Given the description of an element on the screen output the (x, y) to click on. 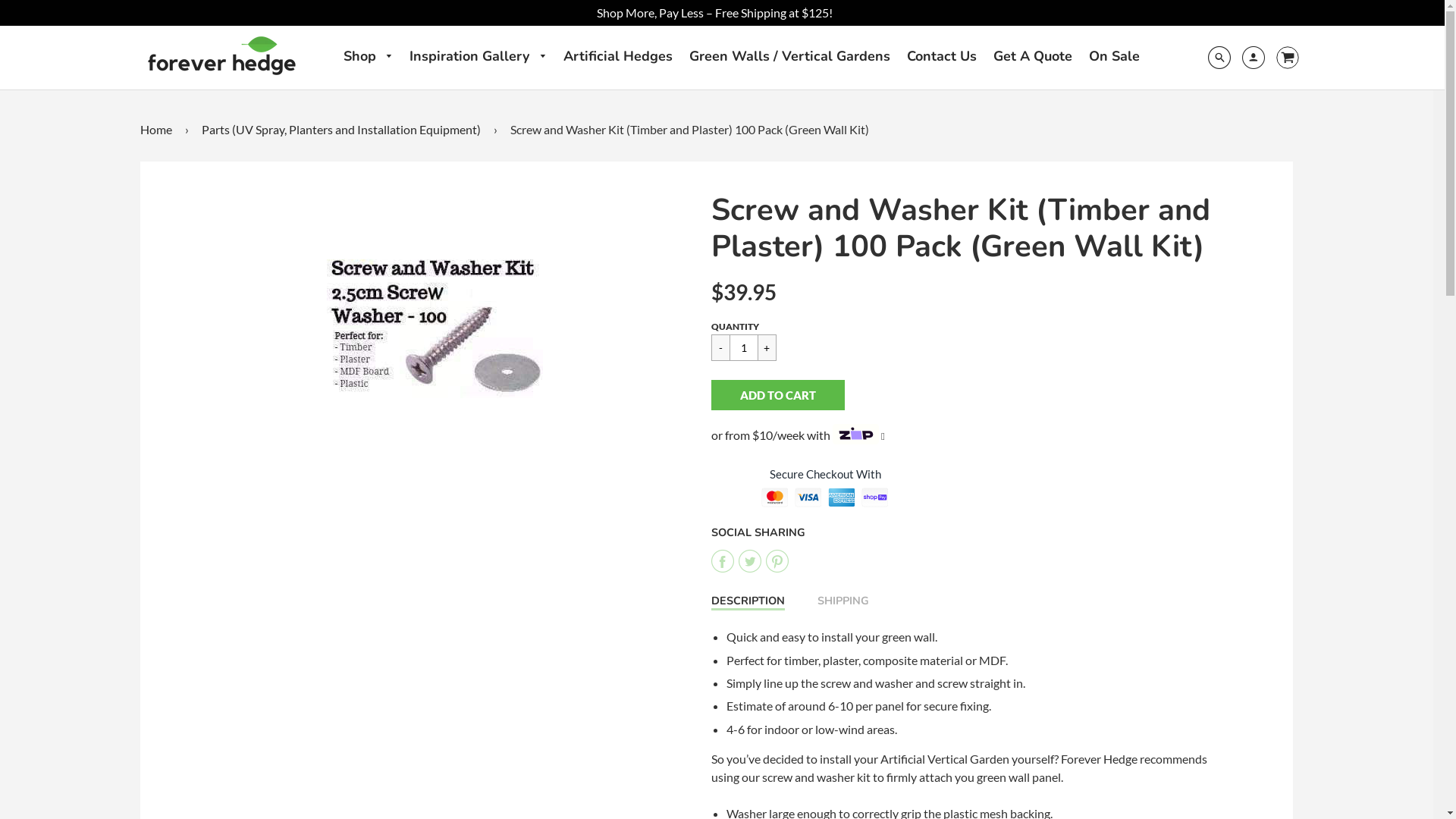
Get A Quote Element type: text (1032, 54)
Green Walls / Vertical Gardens Element type: text (788, 54)
trust-badges-widget Element type: hover (824, 492)
On Sale Element type: text (1114, 54)
Home Element type: text (158, 129)
Contact Us Element type: text (941, 54)
or from $10/week with Element type: text (797, 436)
Share on Pinterest Element type: text (776, 561)
Share on Twitter Element type: text (751, 561)
Inspiration Gallery Element type: text (477, 56)
DESCRIPTION Element type: text (747, 601)
SHIPPING Element type: text (843, 600)
Artificial Hedges Element type: text (617, 54)
Share on Facebook Element type: text (724, 561)
Shop Element type: text (367, 56)
image/svg+xml background Layer 1 Element type: text (1281, 57)
Parts (UV Spray, Planters and Installation Equipment) Element type: text (343, 129)
CART ERROR
ADD TO CART Element type: text (794, 394)
